Given the description of an element on the screen output the (x, y) to click on. 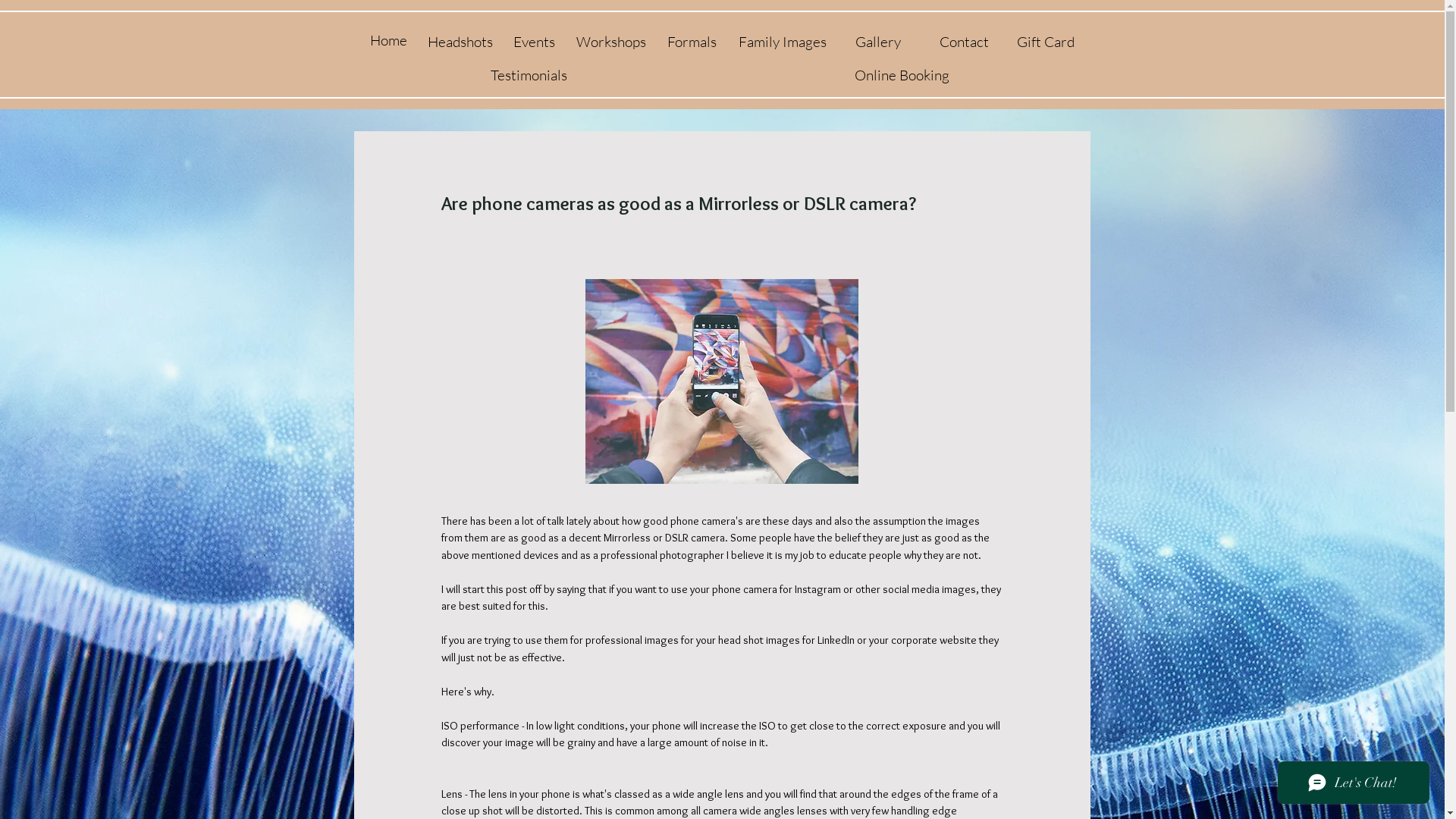
Headshots Element type: text (459, 41)
Gift Card Element type: text (1045, 41)
Gallery Element type: text (878, 41)
Workshops Element type: text (611, 41)
Events Element type: text (534, 41)
Home Element type: text (388, 39)
Testimonials Element type: text (527, 75)
Formals Element type: text (691, 41)
Family Images Element type: text (782, 41)
Contact Element type: text (963, 41)
Online Booking Element type: text (900, 75)
